Given the description of an element on the screen output the (x, y) to click on. 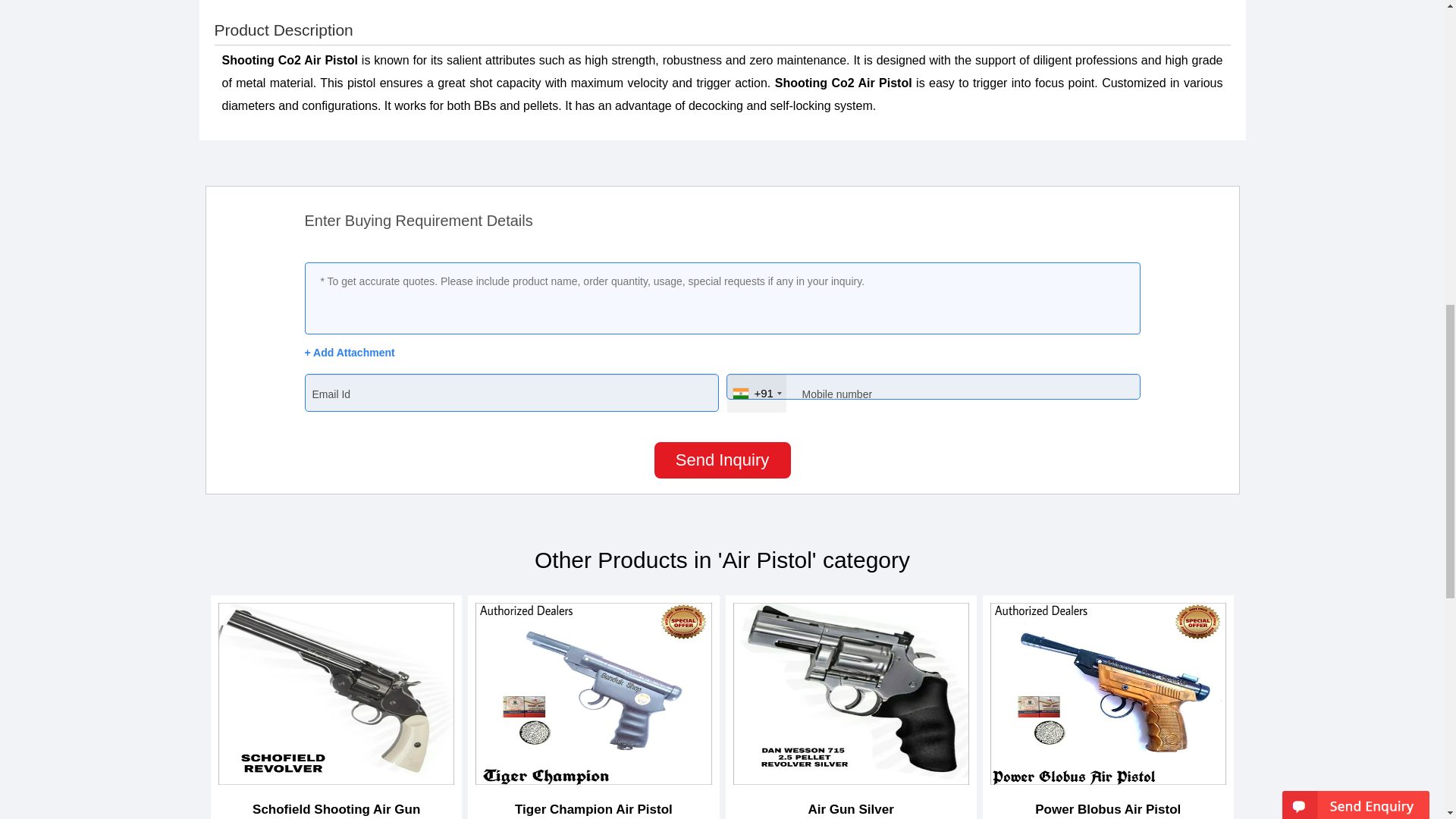
Send Inquiry (721, 460)
